Given the description of an element on the screen output the (x, y) to click on. 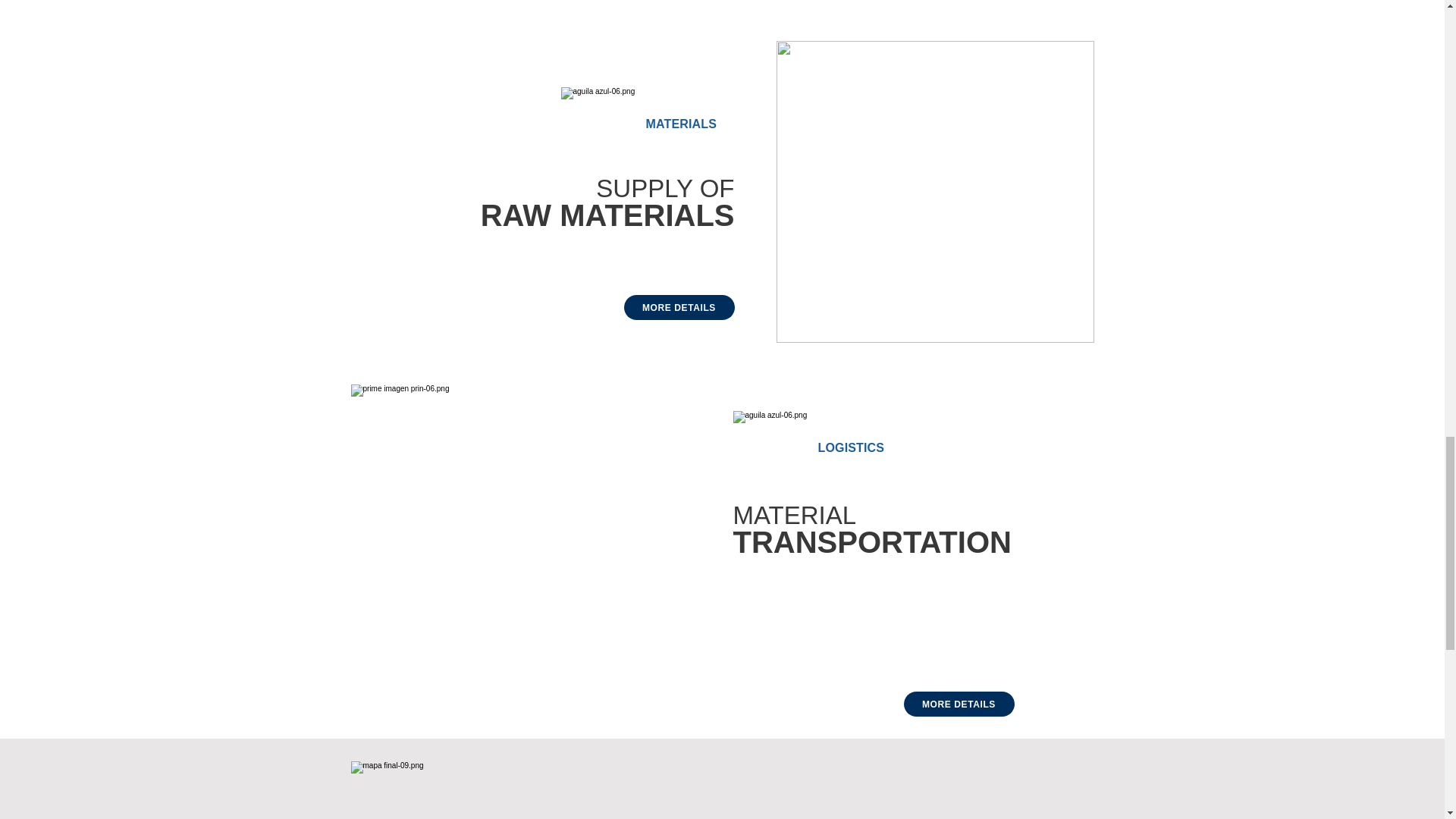
cuarta imagen prin-06.png (935, 191)
MORE DETAILS (678, 307)
MORE DETAILS (959, 703)
